Given the description of an element on the screen output the (x, y) to click on. 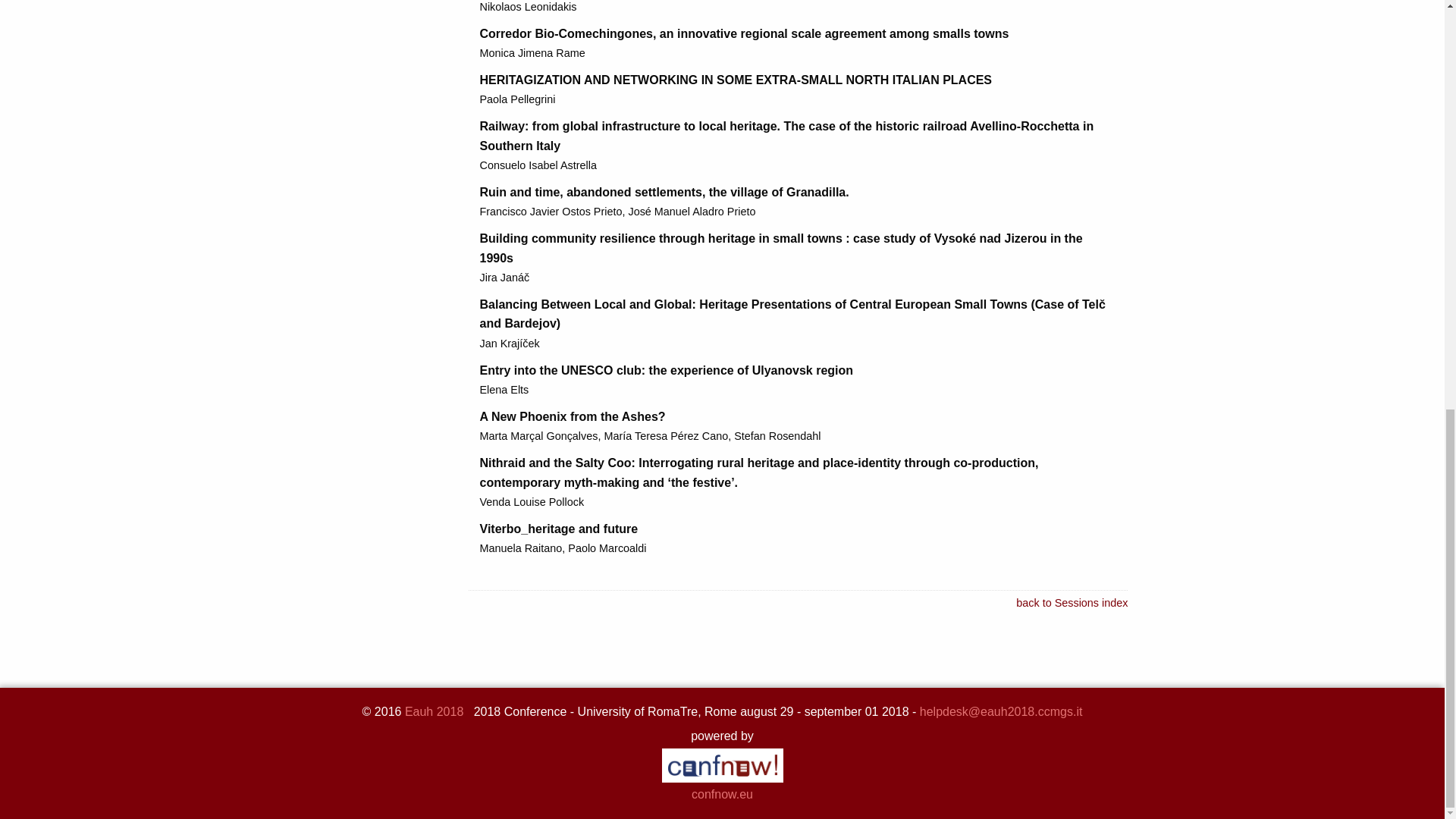
back to Sessions index (1071, 603)
Eauh 2018 (433, 711)
Confnow! (722, 778)
confnow.eu (722, 778)
Eauh2018 (433, 711)
